Given the description of an element on the screen output the (x, y) to click on. 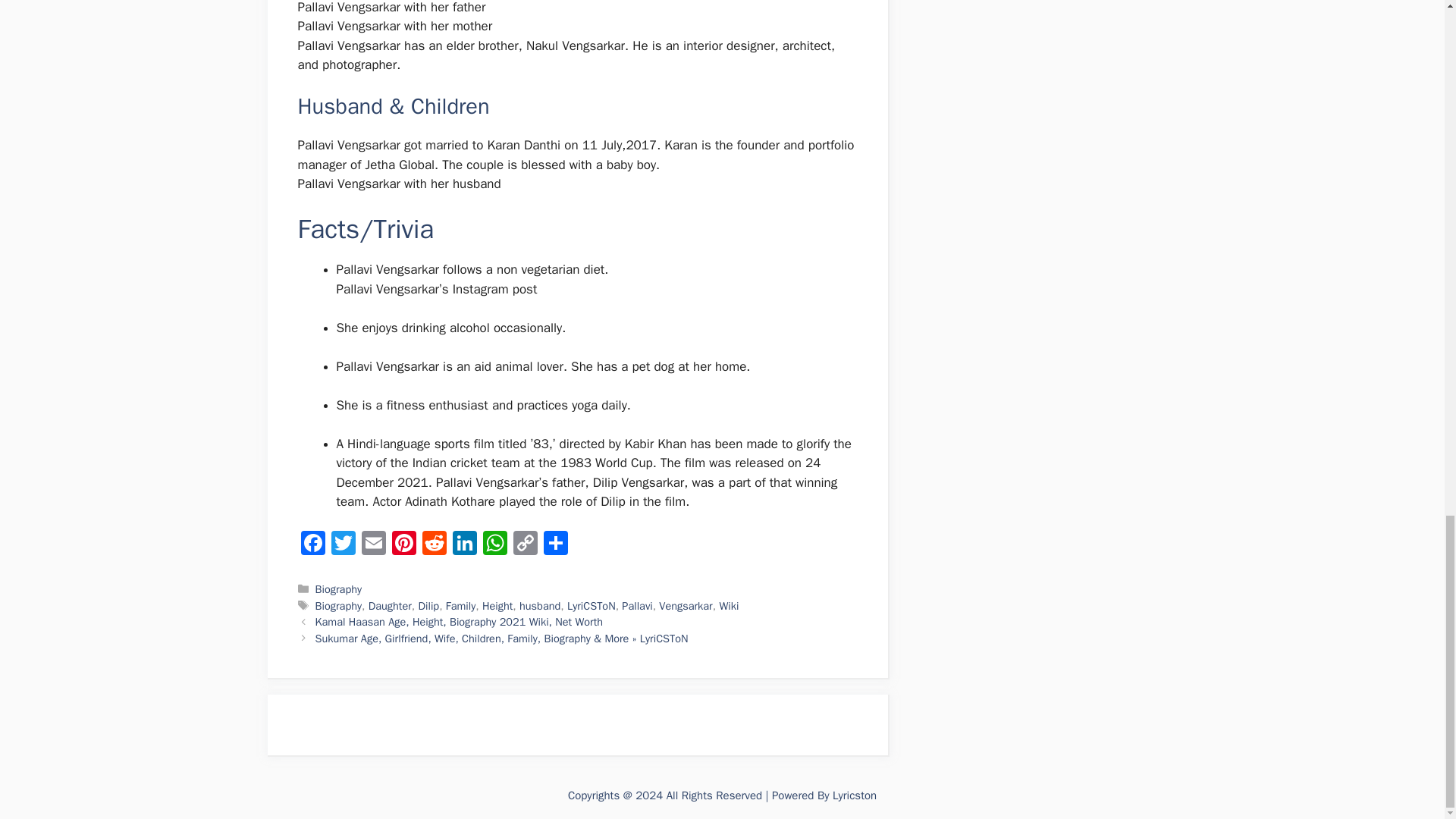
Reddit (433, 544)
Pinterest (403, 544)
WhatsApp (494, 544)
Biography (338, 605)
Facebook (312, 544)
Share (555, 544)
Twitter (342, 544)
Biography (338, 589)
Copy Link (524, 544)
Email (373, 544)
LinkedIn (463, 544)
